Given the description of an element on the screen output the (x, y) to click on. 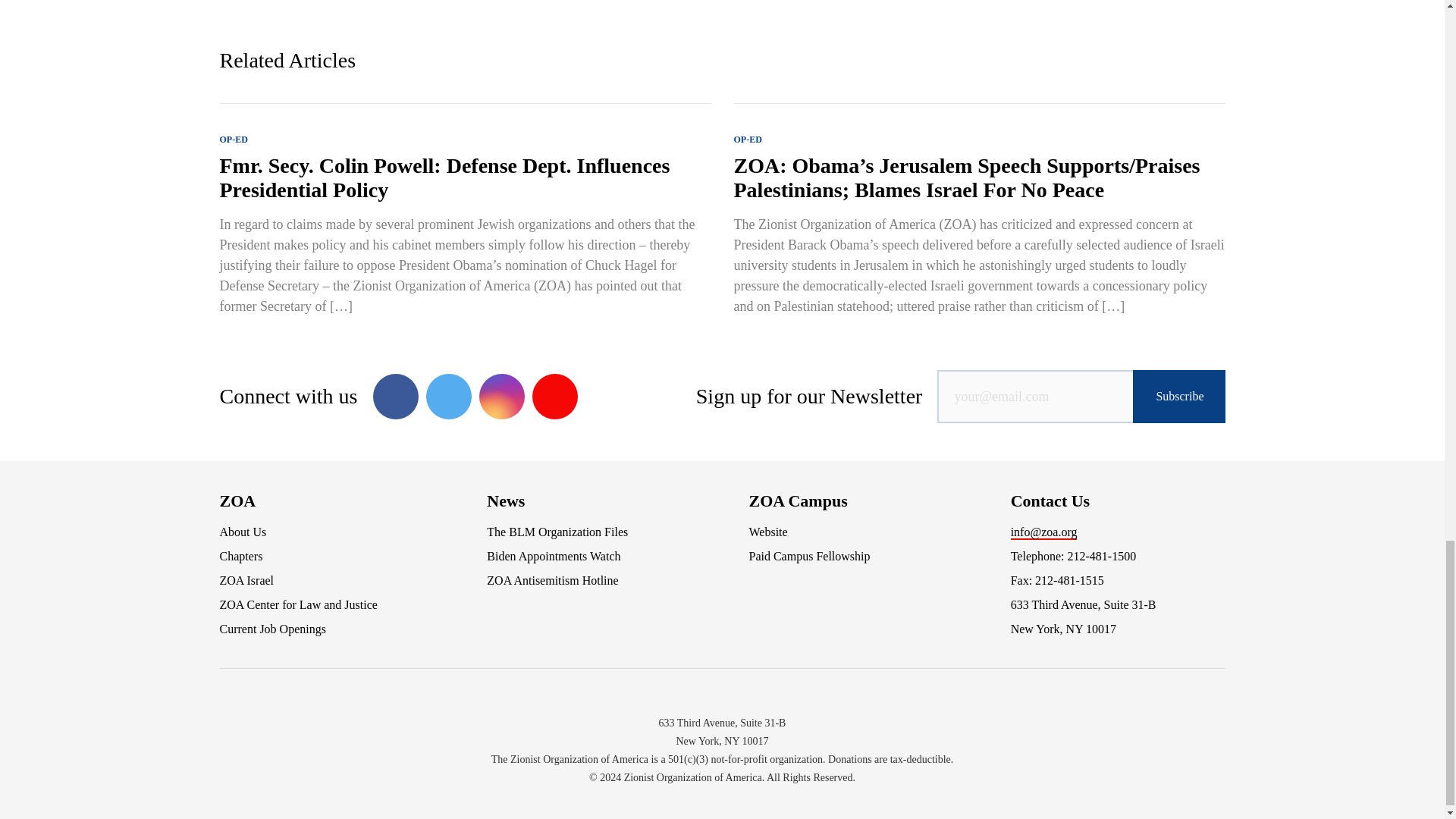
Subscribe (1178, 396)
